Given the description of an element on the screen output the (x, y) to click on. 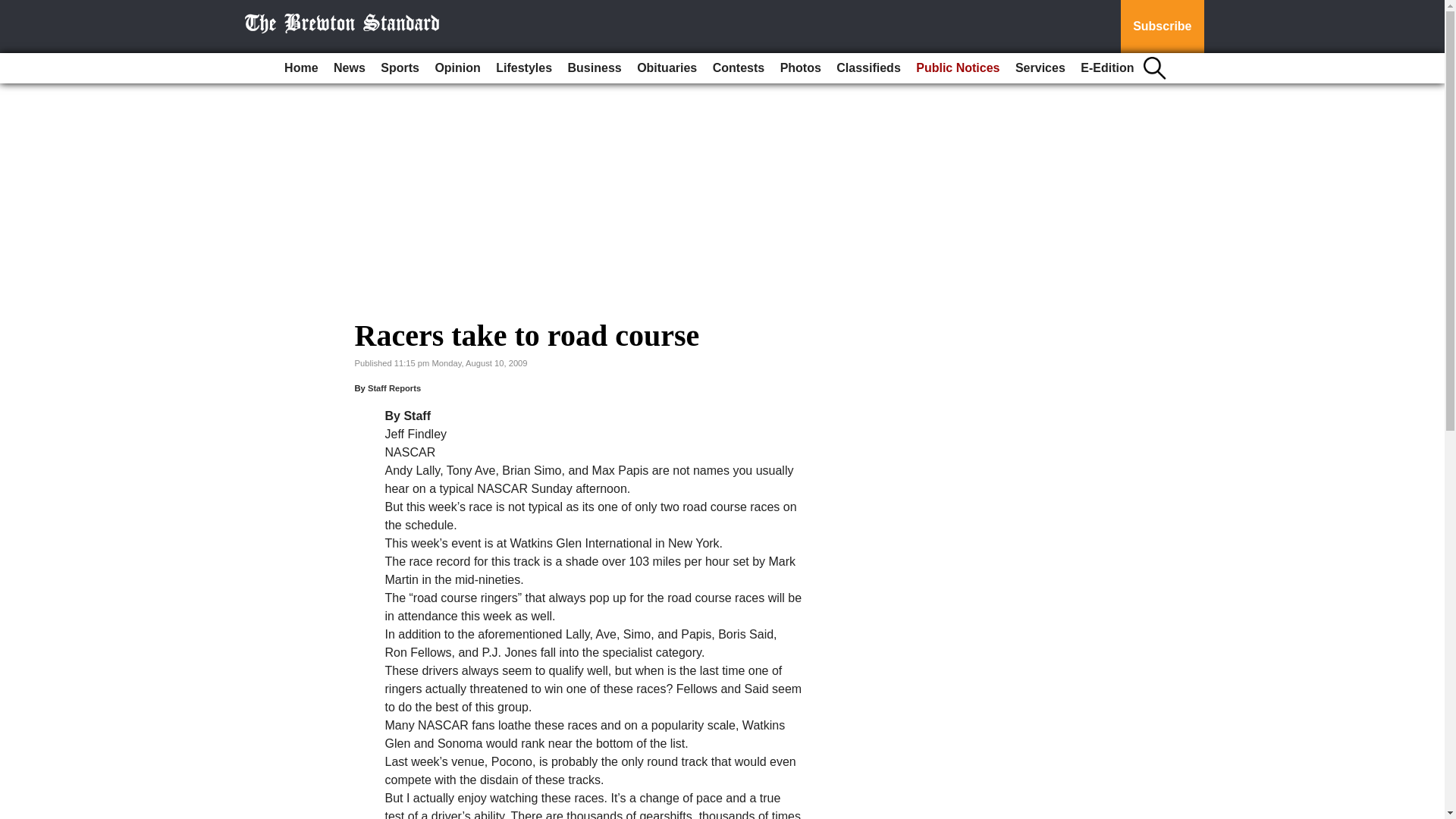
Contests (738, 68)
Business (594, 68)
Home (300, 68)
News (349, 68)
Opinion (457, 68)
Photos (800, 68)
Services (1040, 68)
Go (13, 9)
E-Edition (1107, 68)
Classifieds (867, 68)
Staff Reports (394, 388)
Sports (399, 68)
Obituaries (666, 68)
Subscribe (1162, 26)
Public Notices (958, 68)
